Given the description of an element on the screen output the (x, y) to click on. 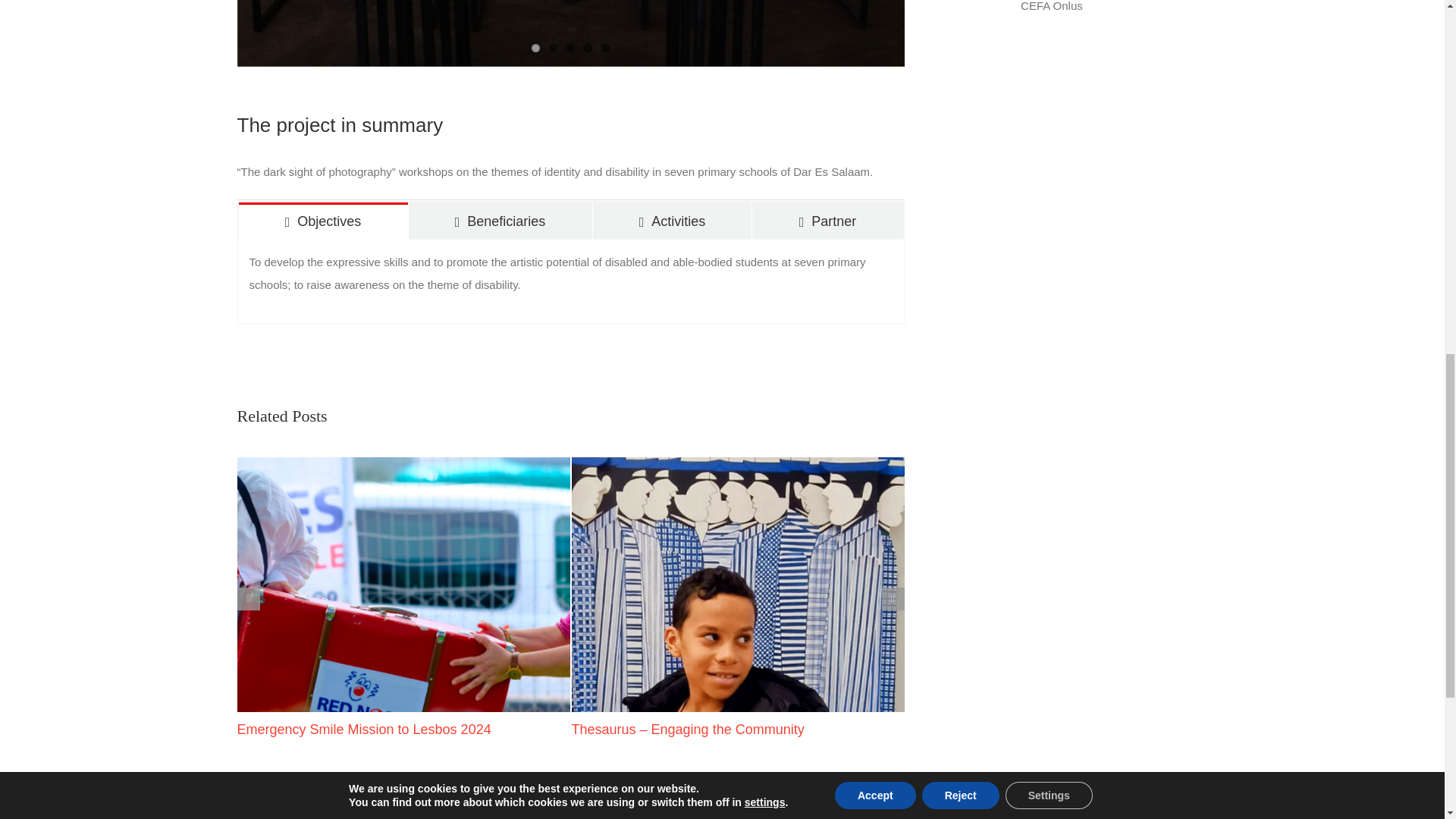
Emergency Smile Mission to Lesbos 2024 (362, 729)
